Given the description of an element on the screen output the (x, y) to click on. 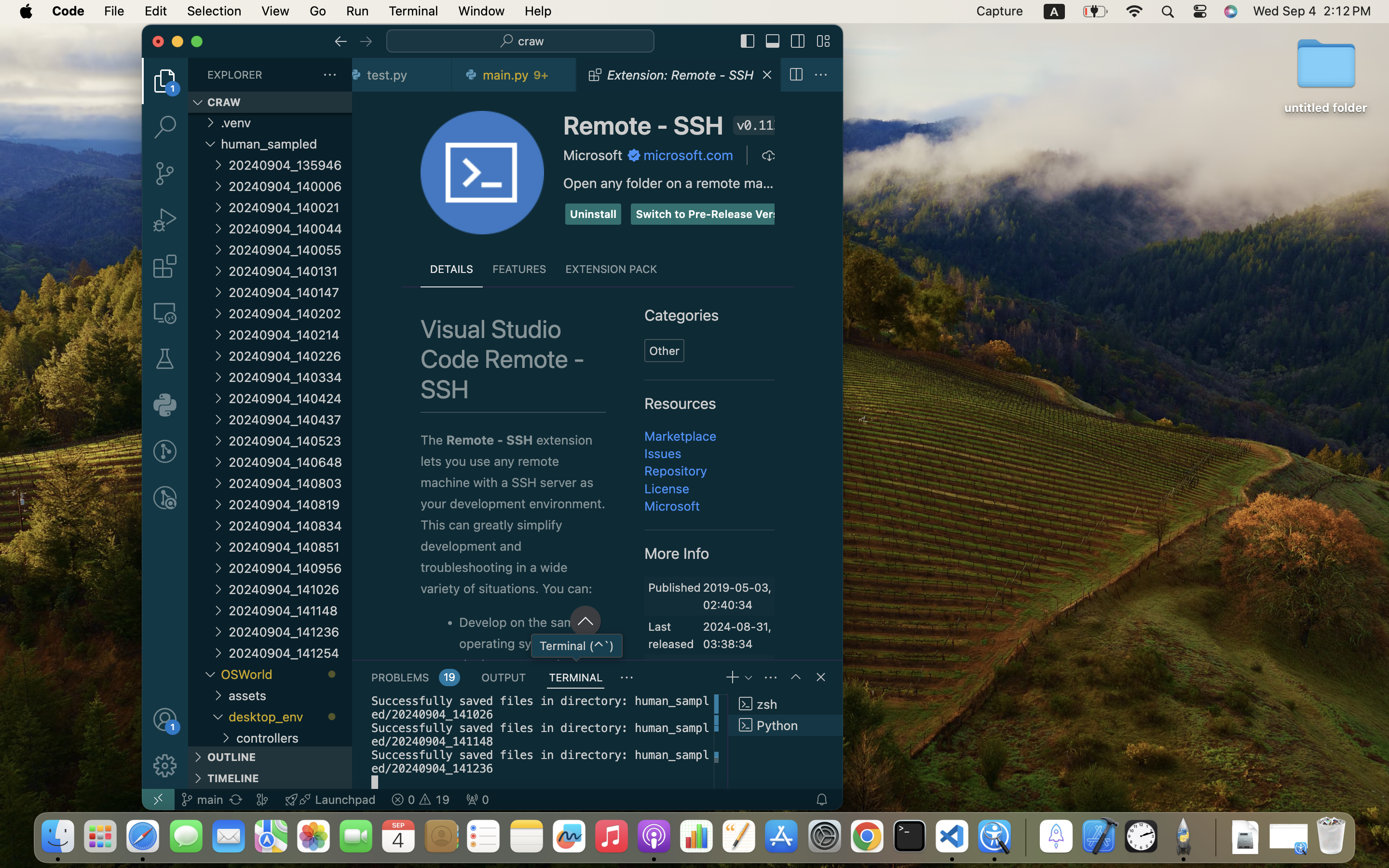
Issues Element type: AXStaticText (662, 453)
 0 Element type: AXButton (477, 799)
 Element type: AXGroup (626, 677)
human_sampled Element type: AXGroup (286, 143)
microsoft.com Element type: AXStaticText (688, 154)
